Given the description of an element on the screen output the (x, y) to click on. 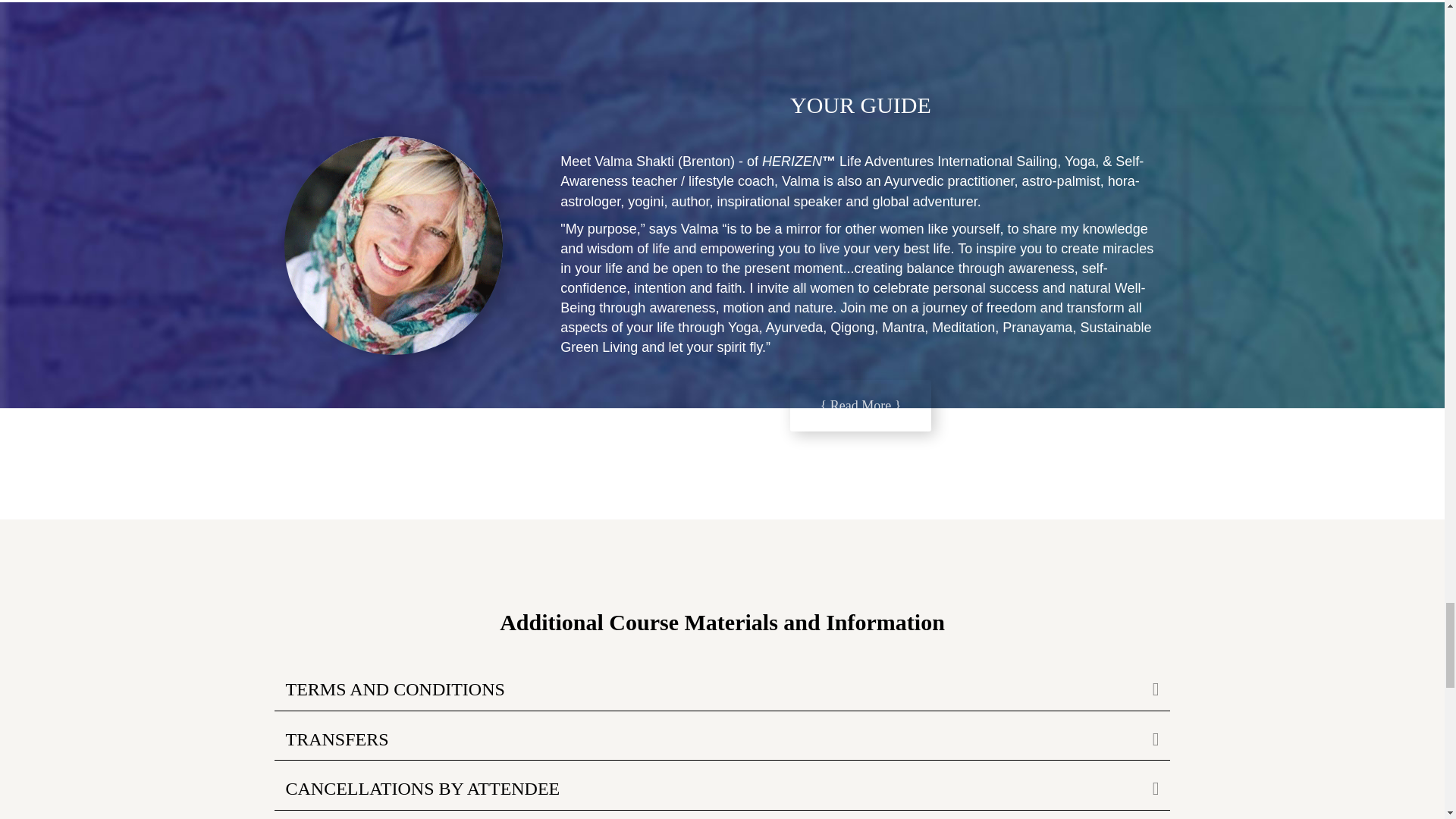
Valma2 (392, 245)
TRANSFERS (707, 739)
CANCELLATIONS BY ATTENDEE (707, 788)
Expand (1143, 788)
Expand (1143, 689)
Expand (1143, 739)
TERMS AND CONDITIONS (707, 689)
